Given the description of an element on the screen output the (x, y) to click on. 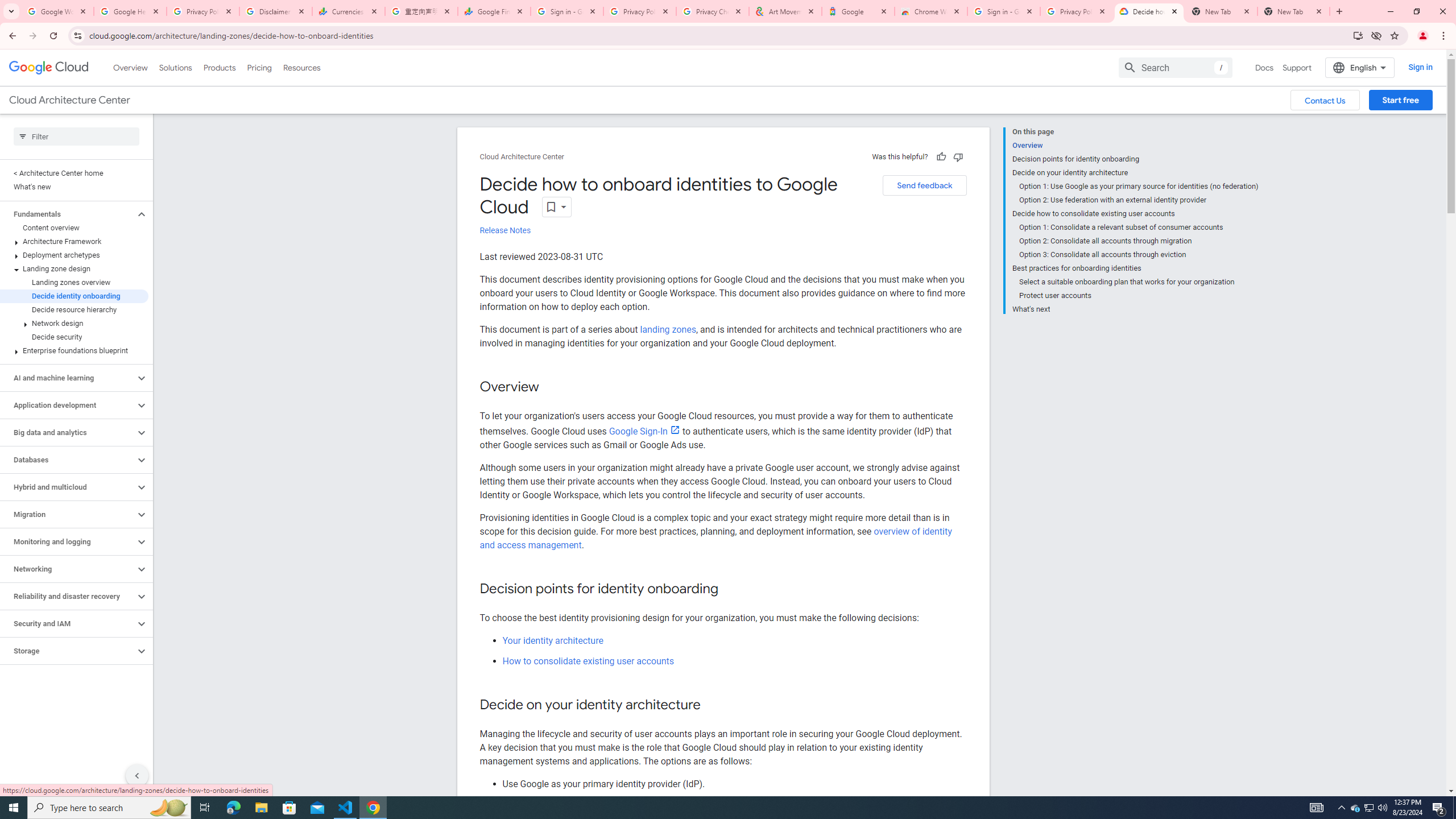
Security and IAM (67, 623)
AI and machine learning (67, 377)
Google (857, 11)
Helpful (940, 156)
Google Cloud (48, 67)
< Architecture Center home (74, 173)
Best practices for onboarding identities (1134, 268)
